Given the description of an element on the screen output the (x, y) to click on. 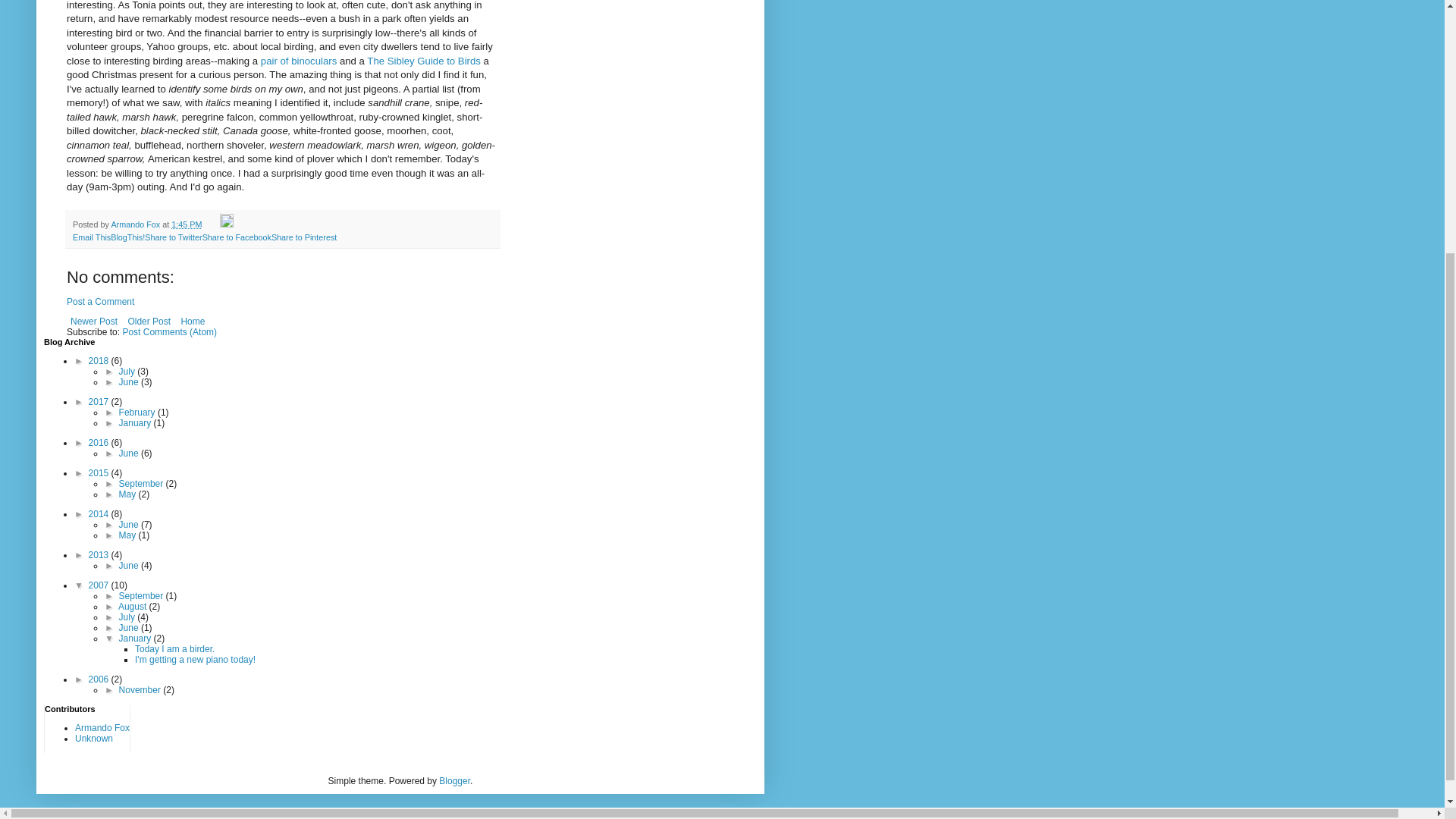
Share to Pinterest (303, 236)
January (136, 422)
1:45 PM (186, 224)
Email This (91, 236)
July (128, 371)
Share to Facebook (236, 236)
February (138, 412)
Newer Post (93, 321)
2016 (100, 442)
Post a Comment (99, 301)
June (130, 452)
Newer Post (93, 321)
permanent link (186, 224)
Email Post (211, 224)
June (130, 381)
